Given the description of an element on the screen output the (x, y) to click on. 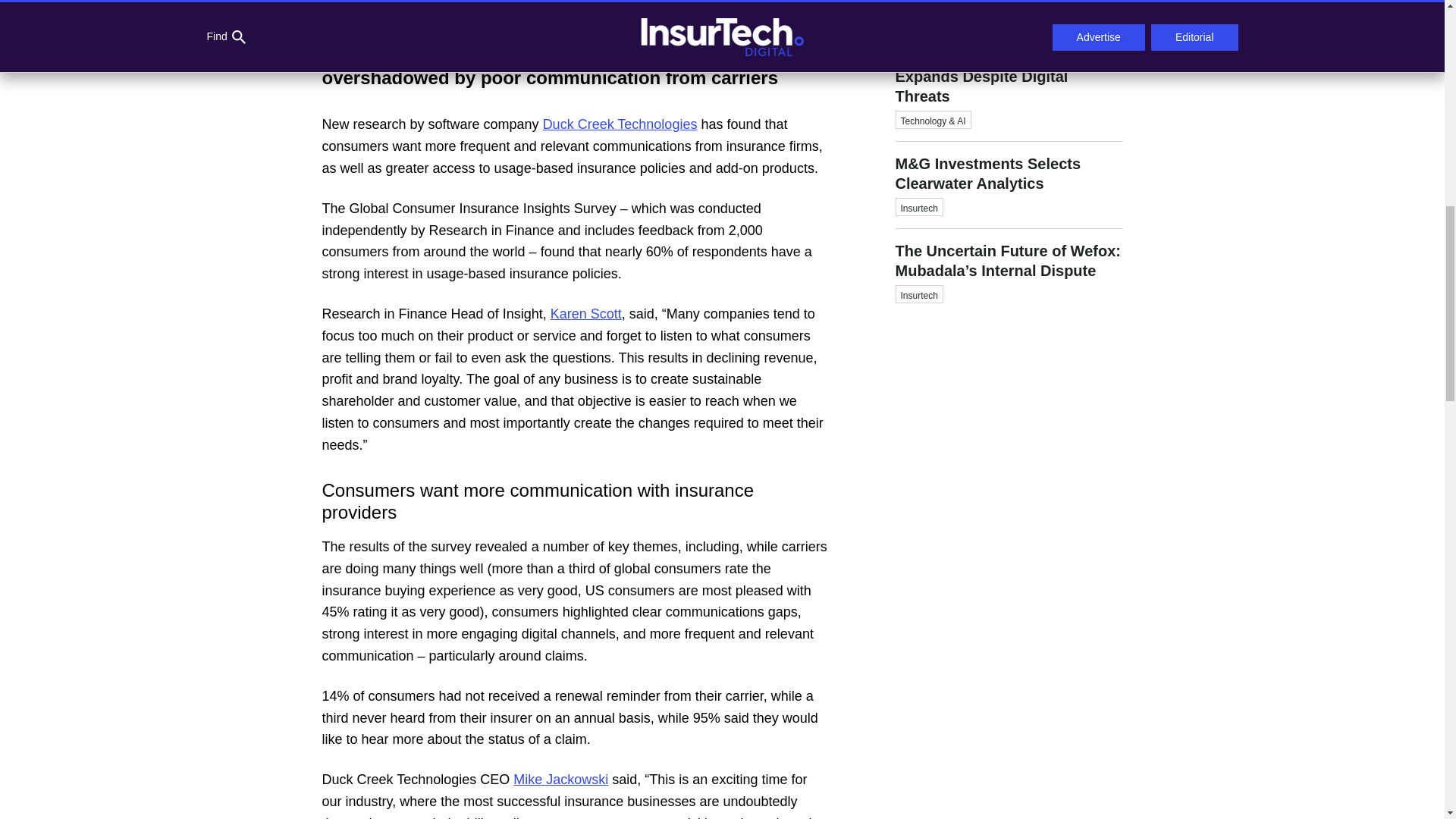
Mike Jackowski (560, 779)
Karen Scott (585, 313)
Duck Creek Technologies (620, 124)
